Given the description of an element on the screen output the (x, y) to click on. 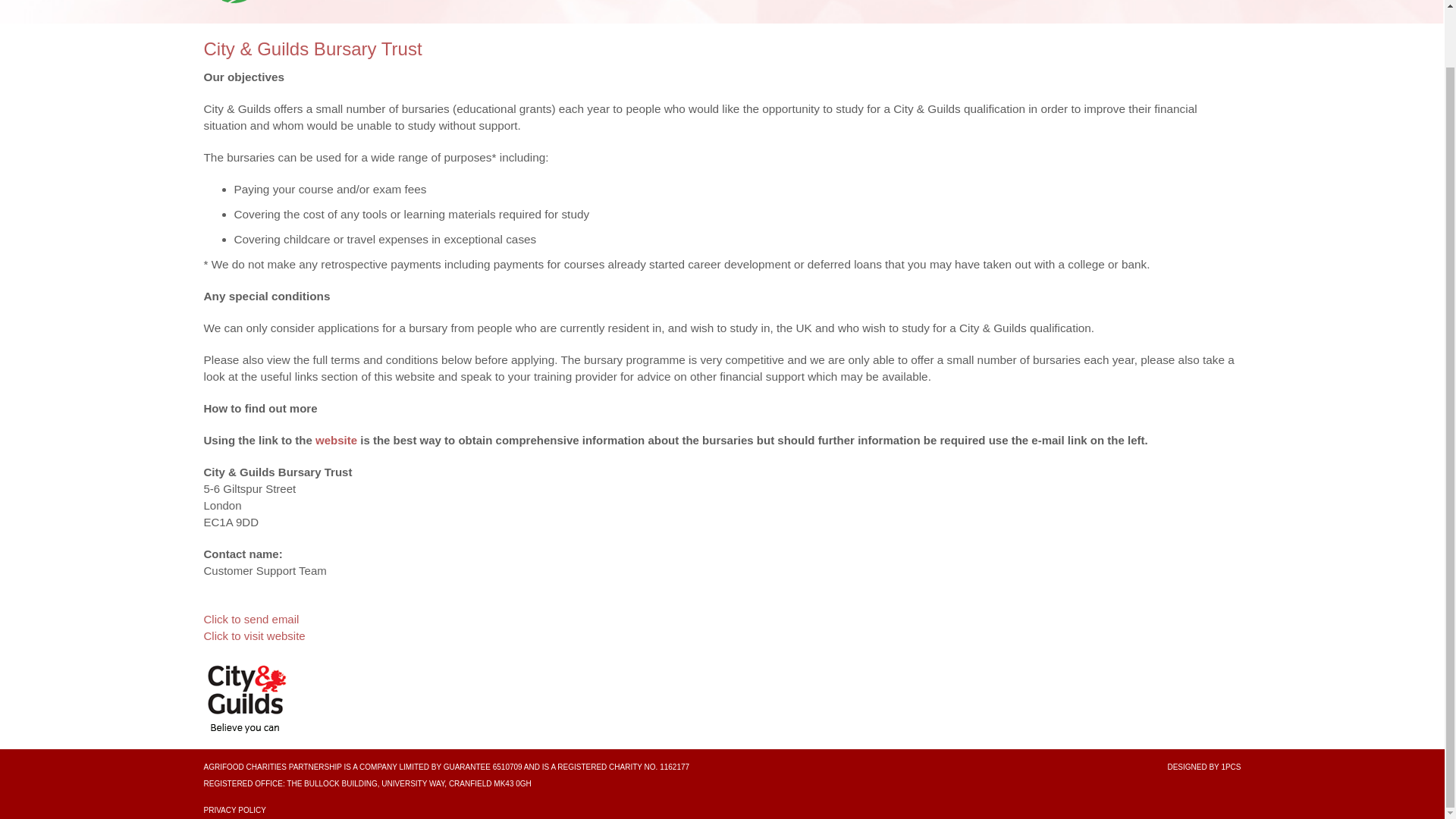
1PCS (1230, 766)
website (335, 440)
Click to visit website (253, 635)
PRIVACY POLICY (233, 809)
Click to send email (250, 618)
